Given the description of an element on the screen output the (x, y) to click on. 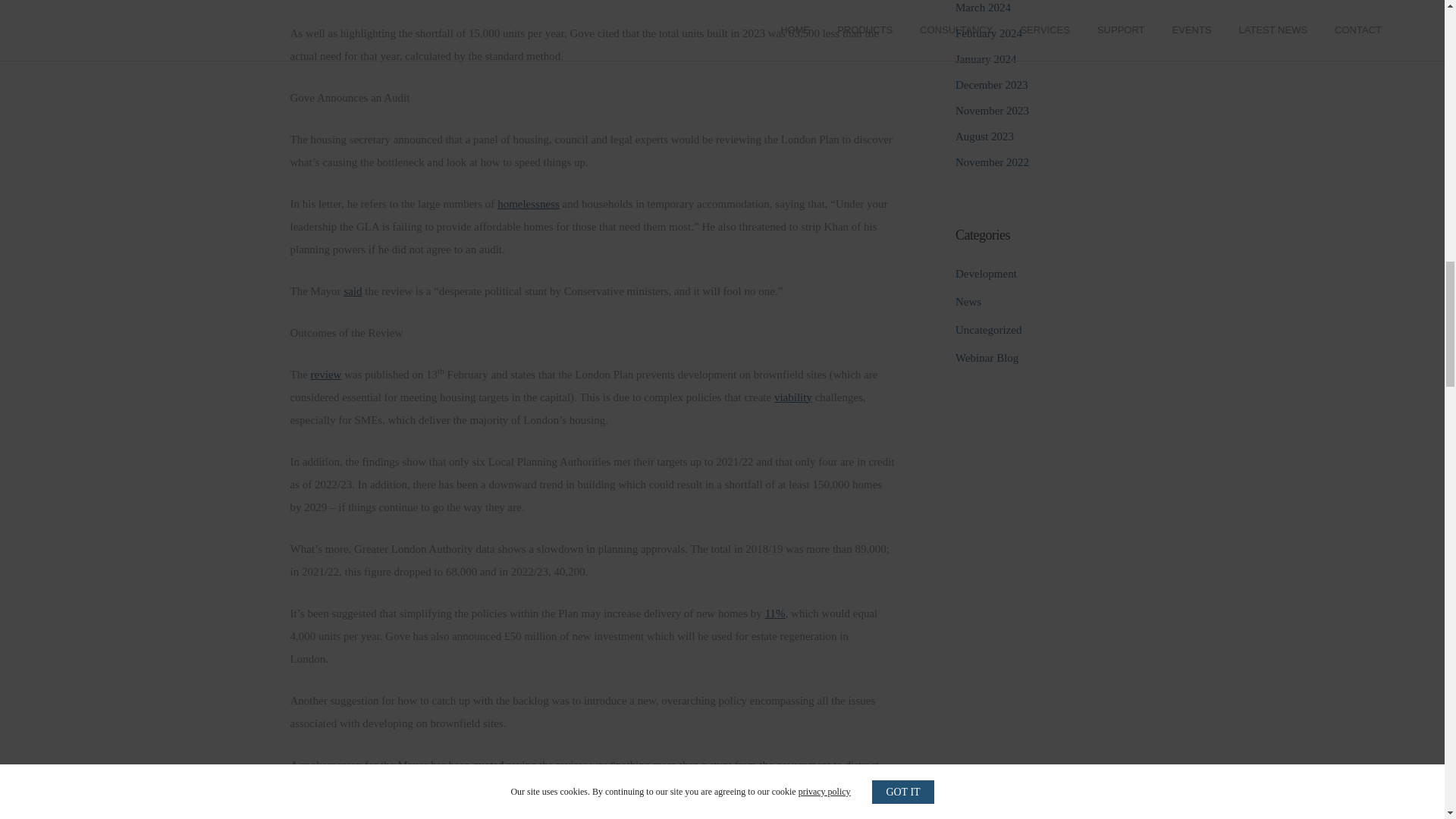
said (352, 291)
quoted (488, 765)
viability (793, 397)
review (326, 374)
homelessness (528, 203)
